Given the description of an element on the screen output the (x, y) to click on. 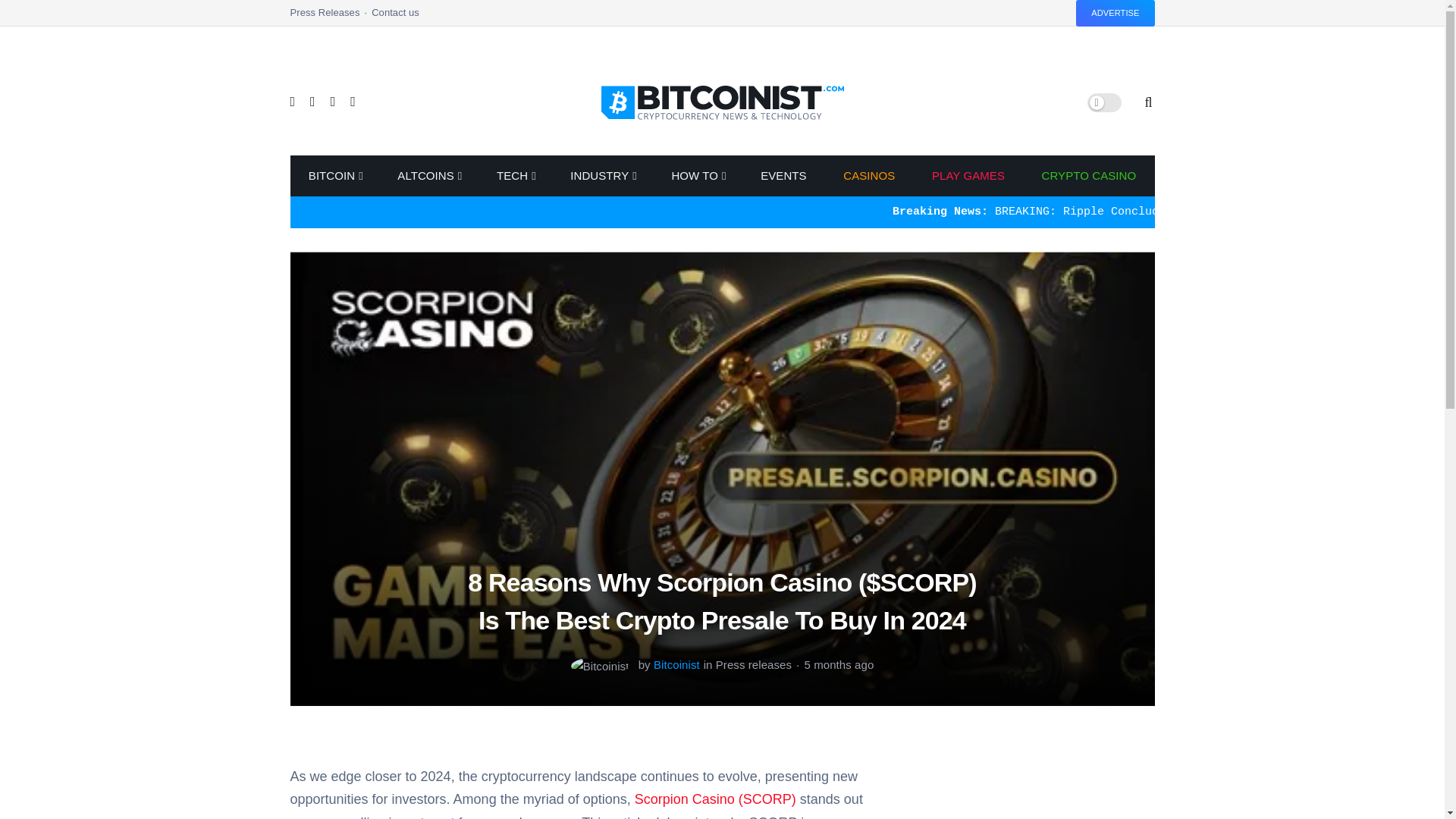
ALTCOINS (428, 175)
BITCOIN (333, 175)
TECH (515, 175)
HOW TO (697, 175)
Contact us (395, 17)
INDUSTRY (601, 175)
ADVERTISE (1114, 13)
Press Releases (330, 17)
